Given the description of an element on the screen output the (x, y) to click on. 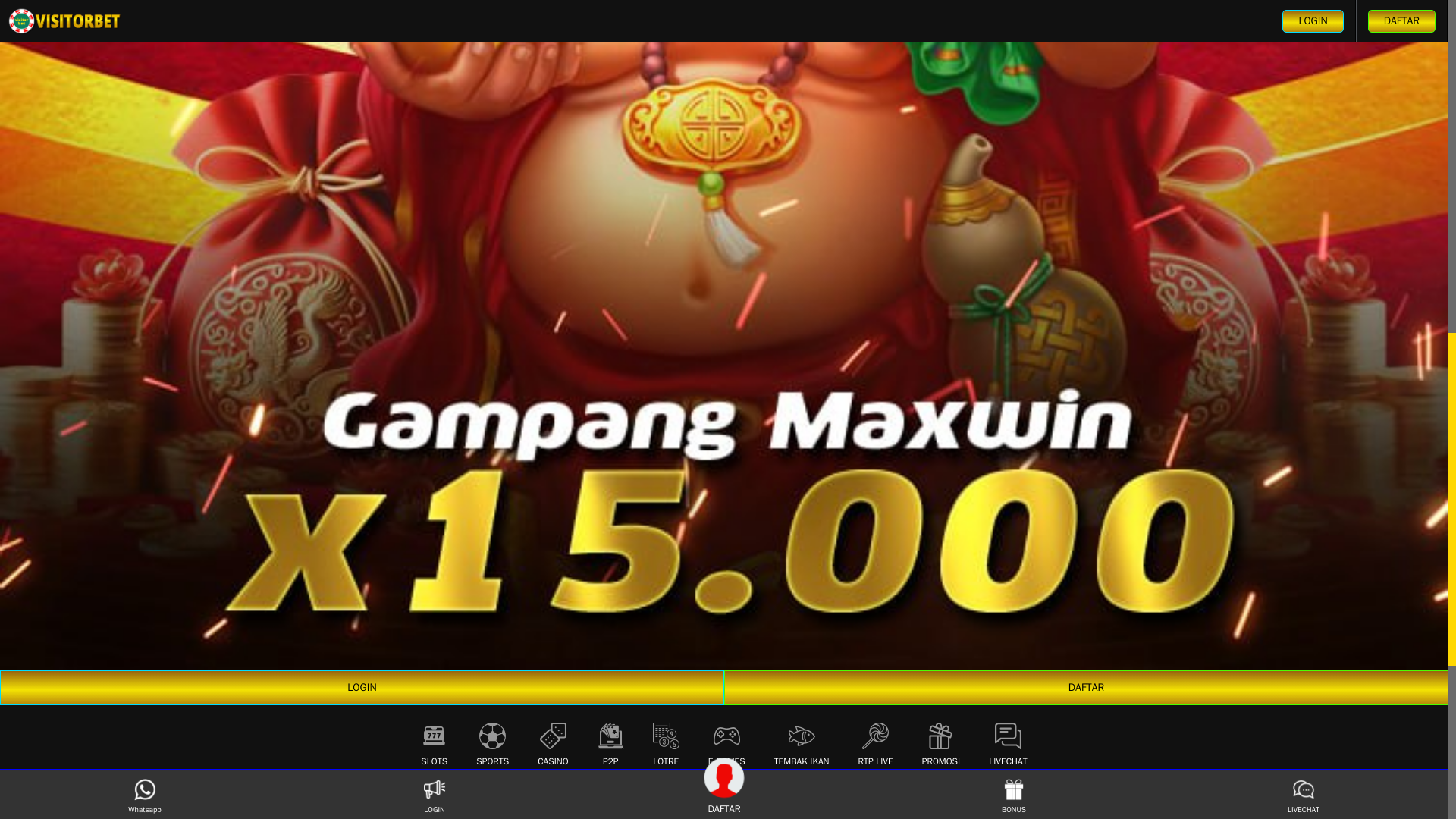
TEMBAK IKAN (801, 742)
TEMBAK IKAN (999, 813)
LOGIN (632, 813)
Previous item in carousel (802, 742)
